Given the description of an element on the screen output the (x, y) to click on. 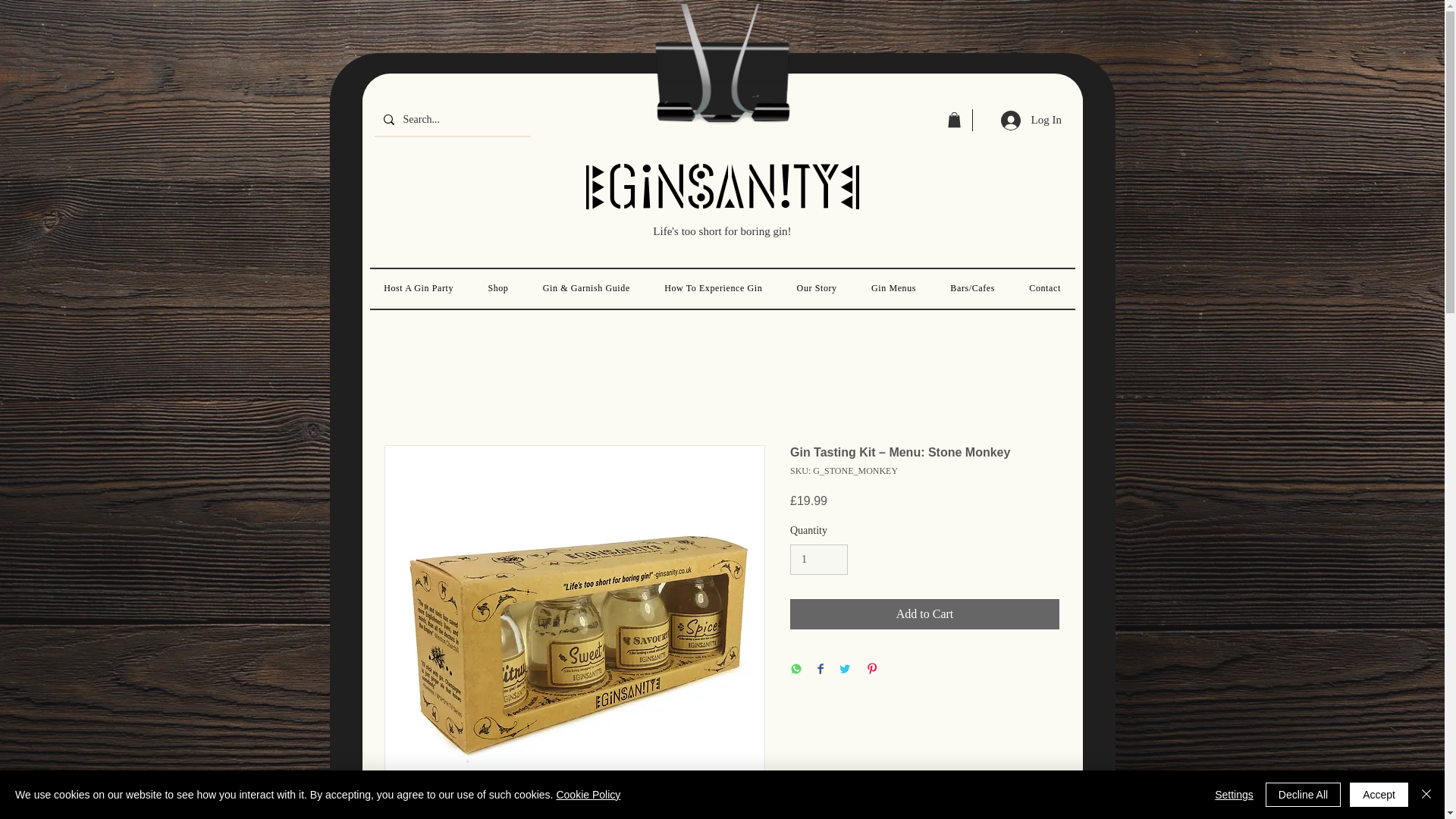
How To Experience Gin (712, 287)
Shop (498, 287)
Add to Cart (924, 613)
1 (818, 559)
Host A Gin Party (418, 287)
Contact (1044, 287)
Gin Menus (893, 287)
Log In (1028, 120)
Our Story (816, 287)
